Given the description of an element on the screen output the (x, y) to click on. 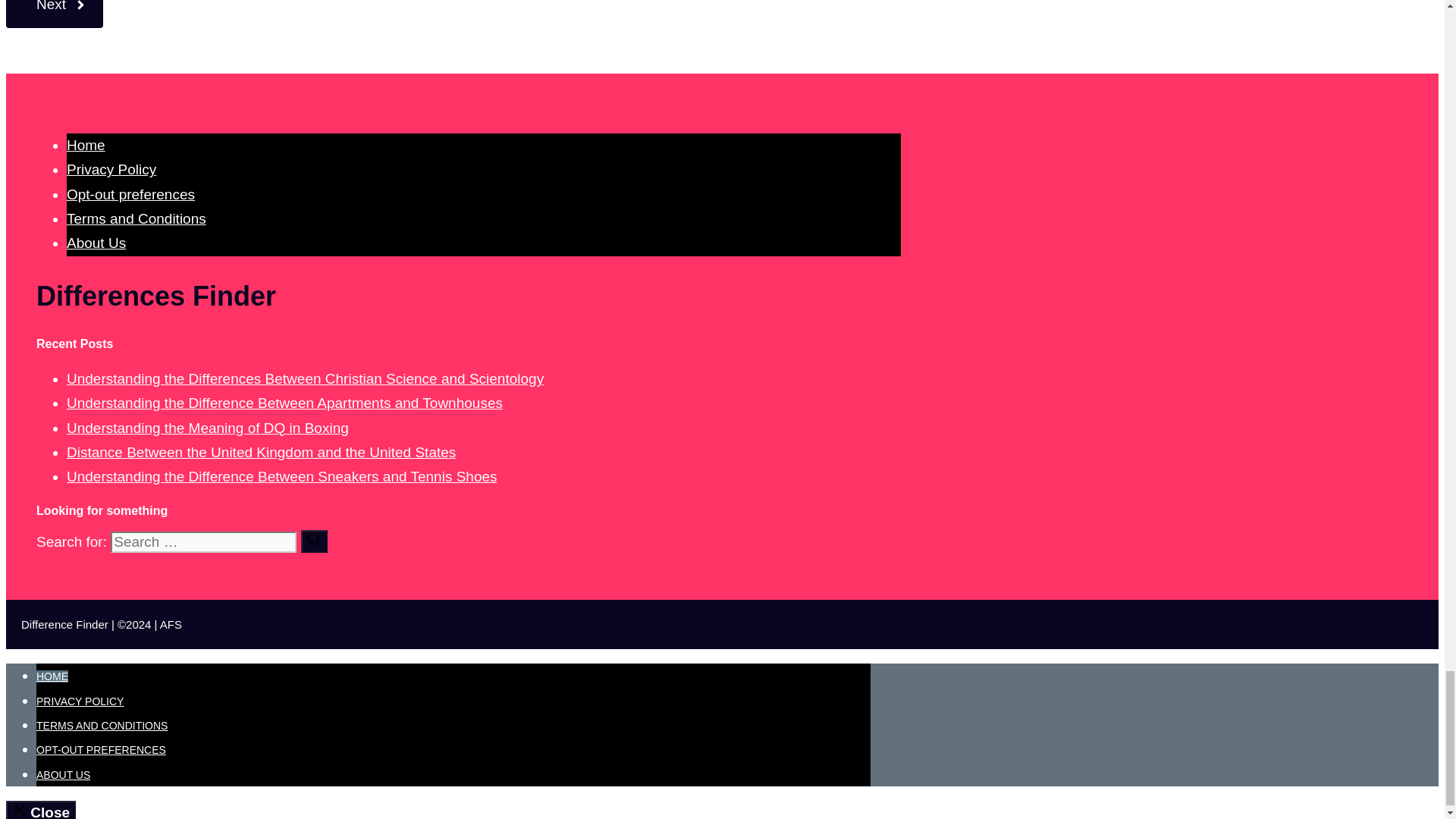
Search for: (203, 541)
